Given the description of an element on the screen output the (x, y) to click on. 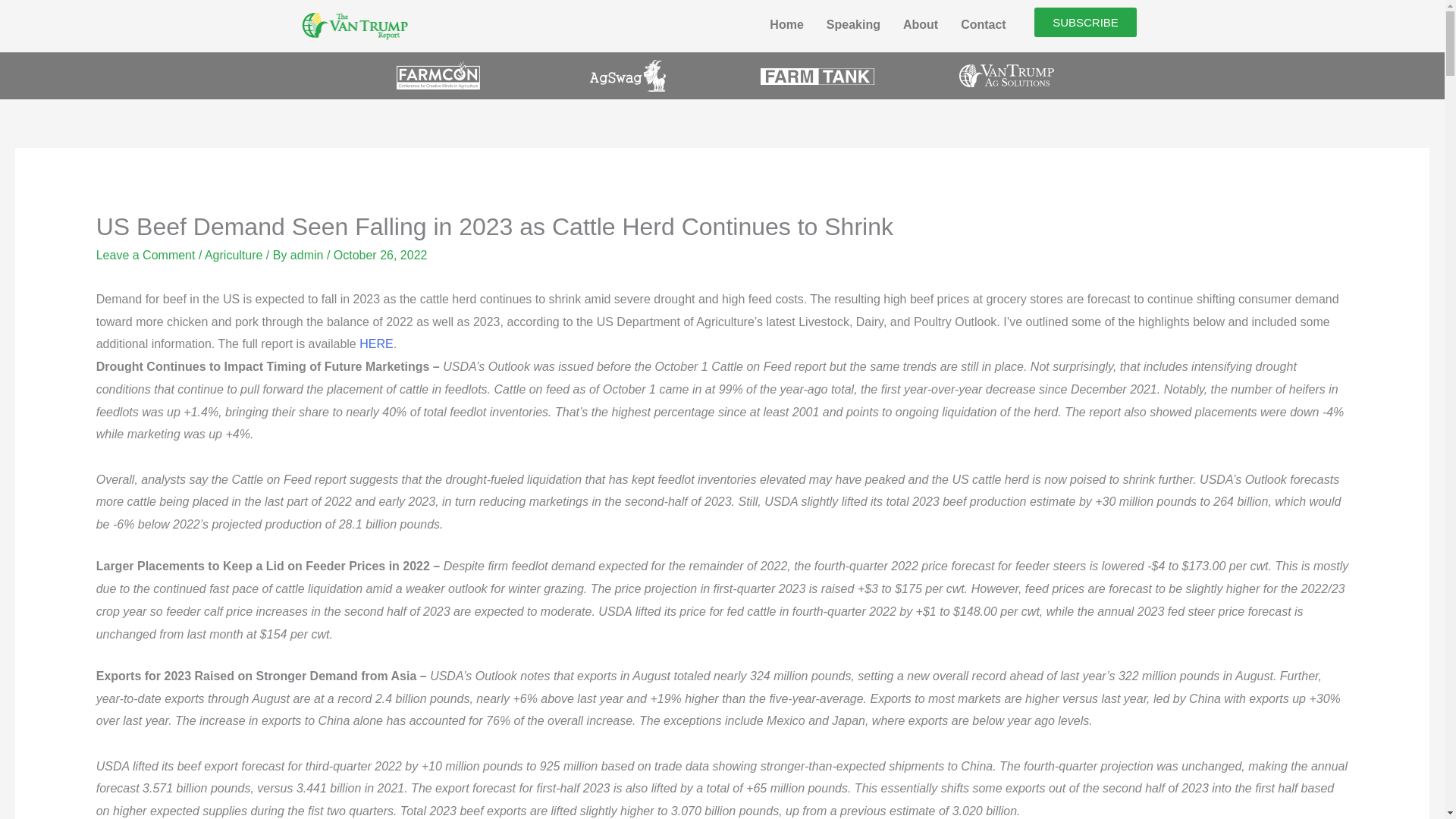
View all posts by admin (307, 254)
FarmCon Logo WHITE (437, 75)
HERE (376, 343)
Agriculture (233, 254)
admin (307, 254)
Speaking (853, 24)
AgSwag Logo WHITE (627, 75)
Home (785, 24)
Leave a Comment (145, 254)
FarmTank Logo WHITE (816, 76)
Contact (983, 24)
About (920, 24)
SUBSCRIBE (1085, 21)
Van-Trump-Ag-Solutions-Logo-WHITE (1006, 75)
